Given the description of an element on the screen output the (x, y) to click on. 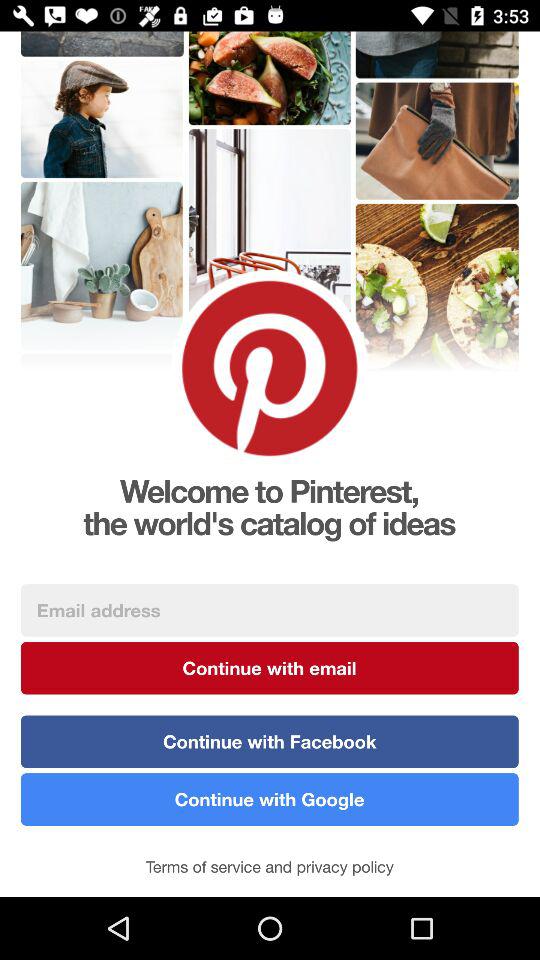
email sign in (269, 610)
